Given the description of an element on the screen output the (x, y) to click on. 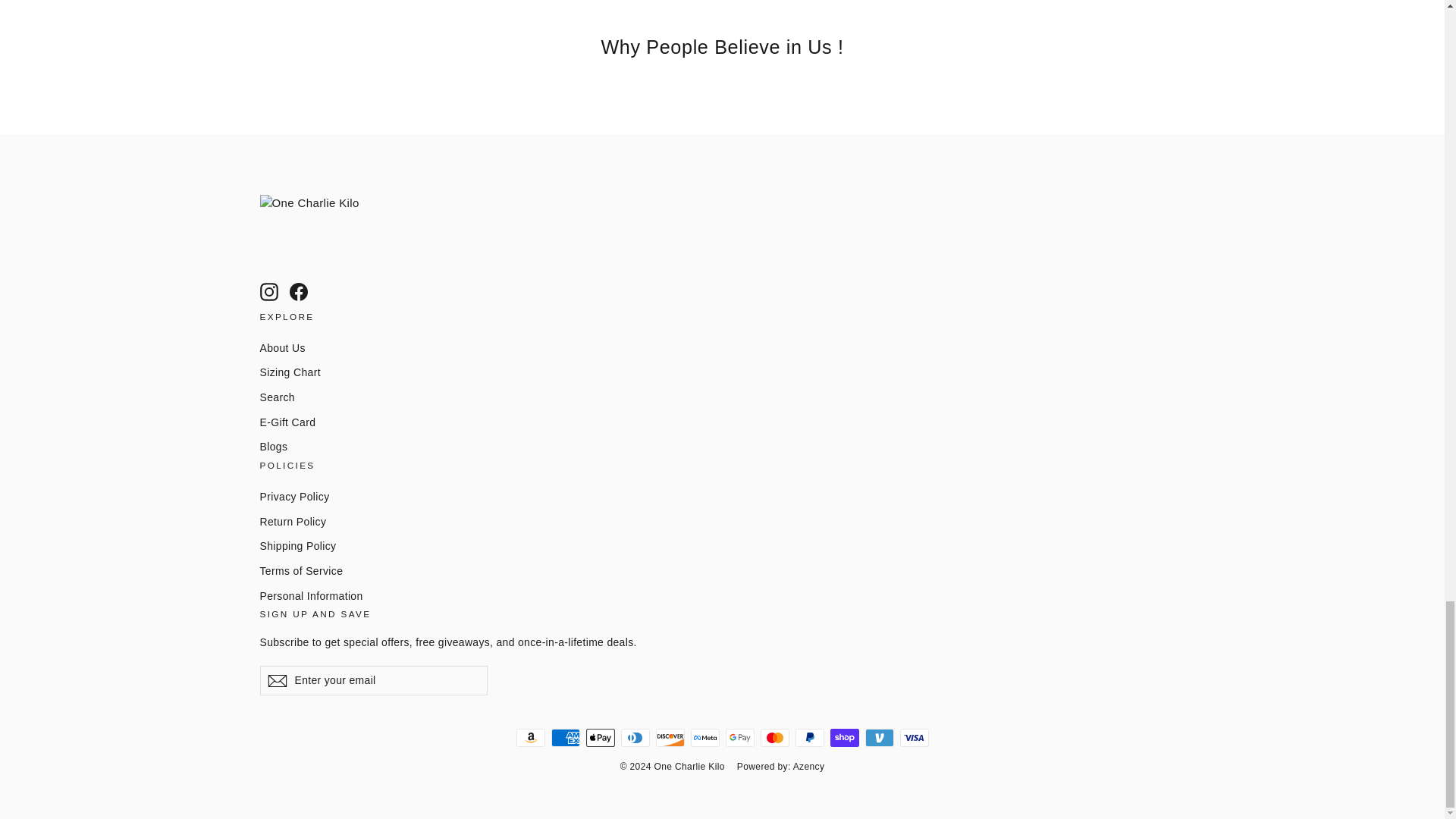
One Charlie Kilo on Facebook (298, 291)
One Charlie Kilo on Instagram (268, 291)
American Express (564, 737)
Apple Pay (599, 737)
Amazon (529, 737)
Diners Club (634, 737)
